Given the description of an element on the screen output the (x, y) to click on. 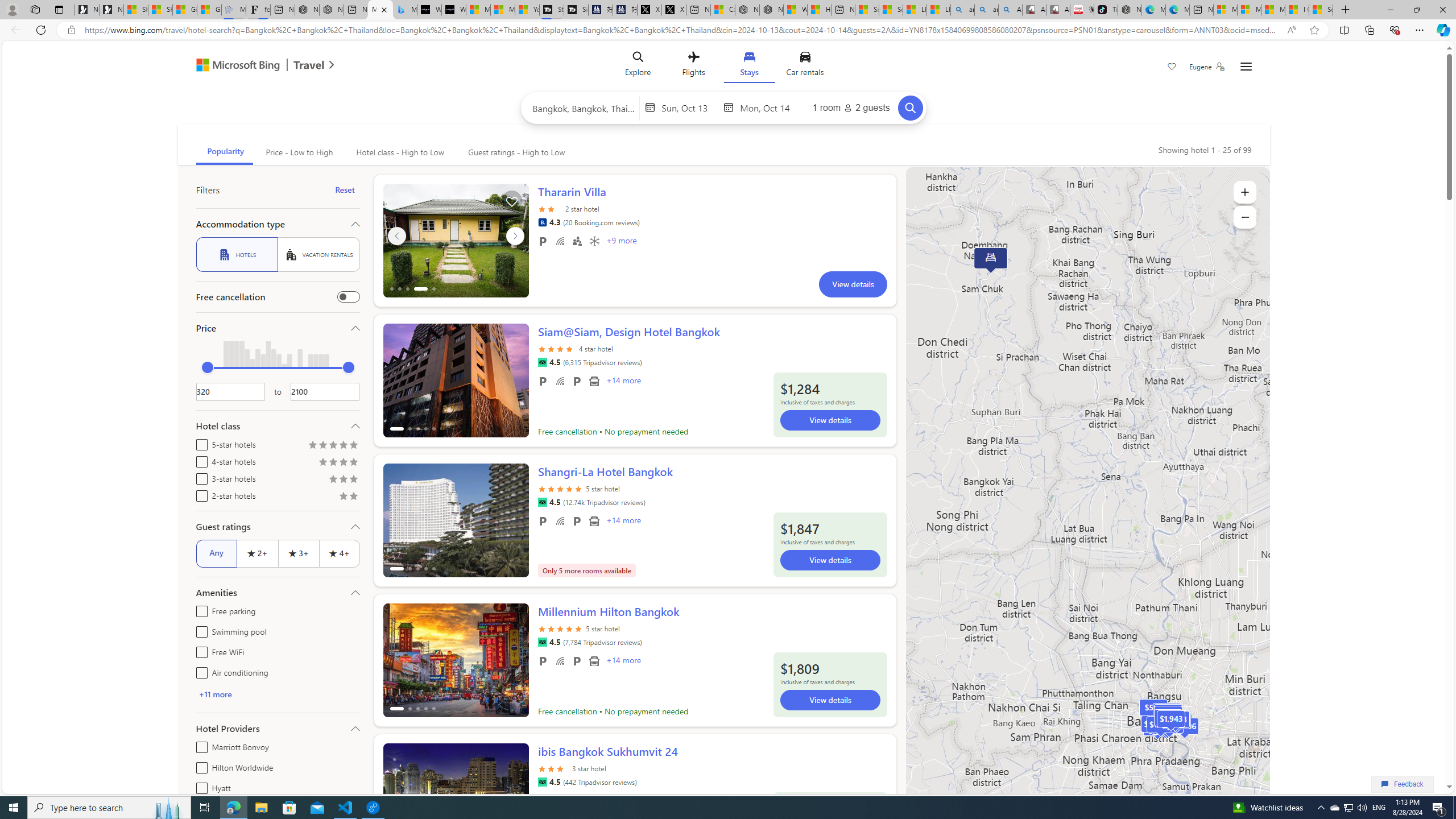
X (673, 9)
I Gained 20 Pounds of Muscle in 30 Days! | Watch (1296, 9)
max  (348, 367)
Air conditioning (593, 240)
Booking.com (542, 221)
Add this page to favorites (Ctrl+D) (1314, 29)
Travel (308, 65)
Car rentals (804, 65)
Any (216, 553)
Hotel class (277, 425)
New tab (1201, 9)
Flights (693, 65)
View details (830, 699)
View site information (70, 29)
Start Date (689, 107)
